Given the description of an element on the screen output the (x, y) to click on. 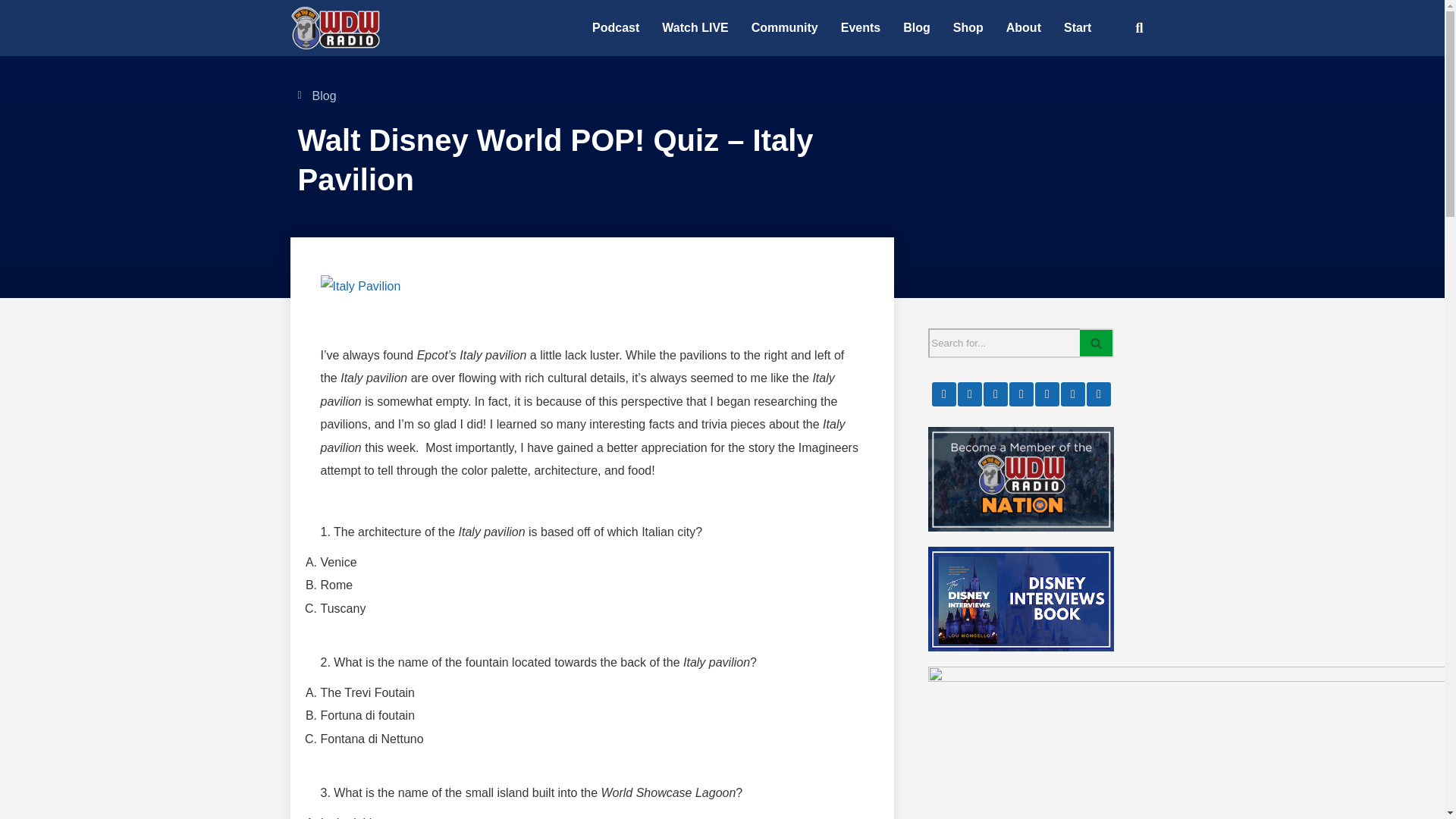
Shop (968, 28)
Podcast (615, 28)
Watch LIVE (694, 28)
Skip to content (11, 31)
Events (860, 28)
Blog (324, 95)
Community (784, 28)
Blog (916, 28)
About (1023, 28)
Start (1077, 28)
